Given the description of an element on the screen output the (x, y) to click on. 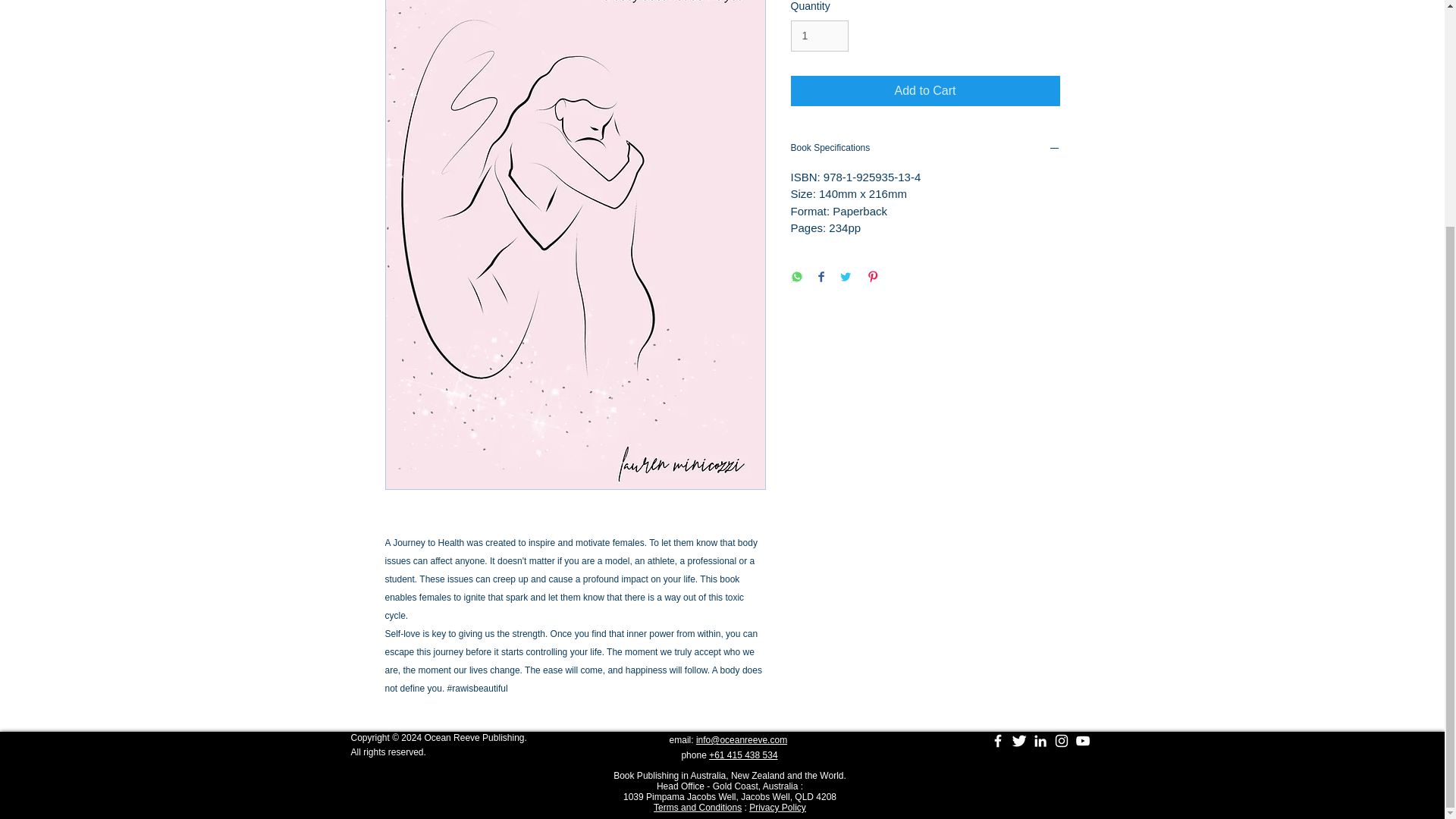
Terms and Conditions : Privacy Policy (729, 807)
Book Specifications (924, 149)
1 (818, 35)
Add to Cart (924, 91)
